Given the description of an element on the screen output the (x, y) to click on. 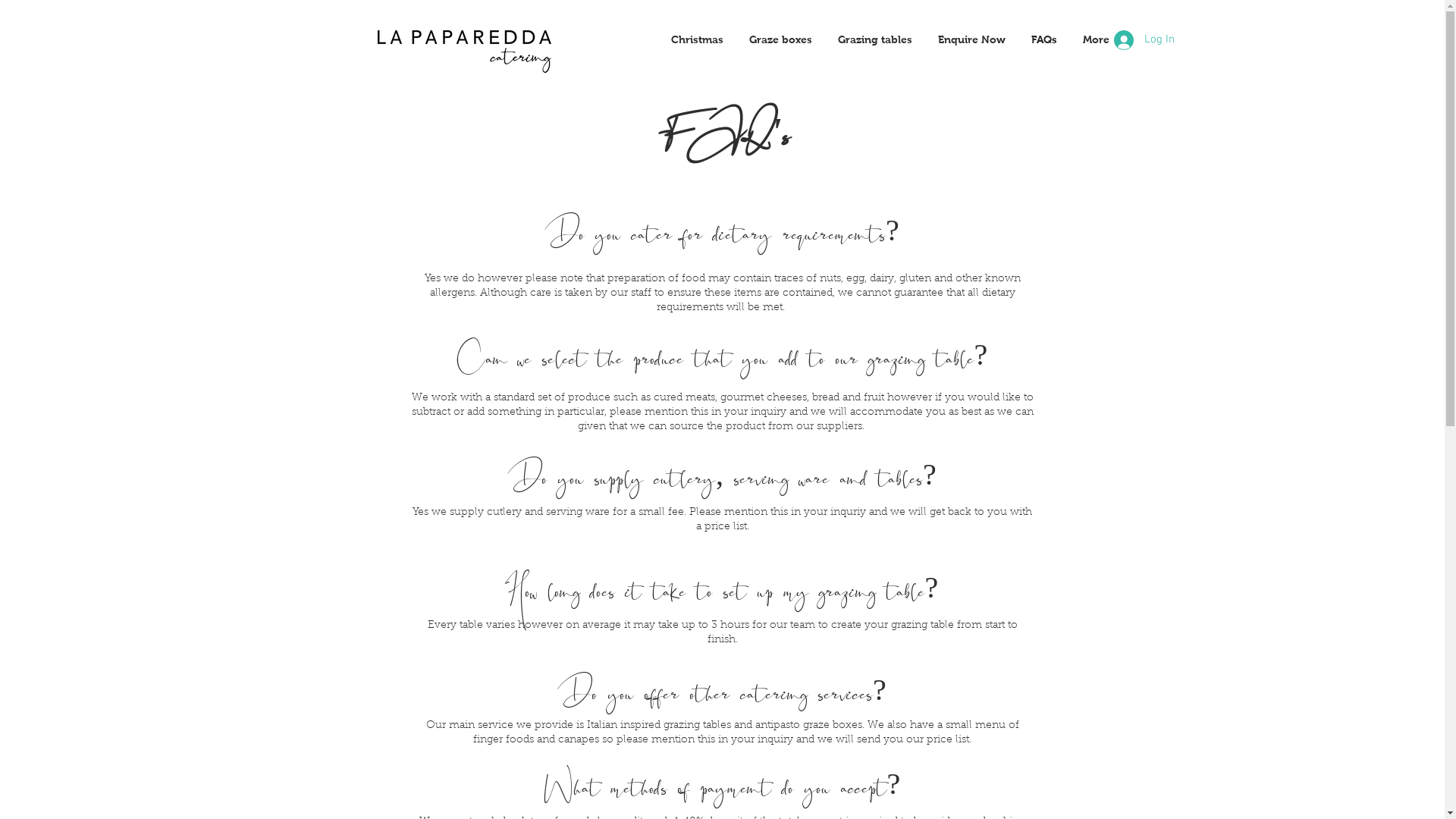
Grazing tables Element type: text (875, 39)
Christmas Element type: text (697, 39)
Graze boxes Element type: text (779, 39)
Enquire Now Element type: text (971, 39)
FAQs Element type: text (1043, 39)
Log In Element type: text (1143, 39)
